Given the description of an element on the screen output the (x, y) to click on. 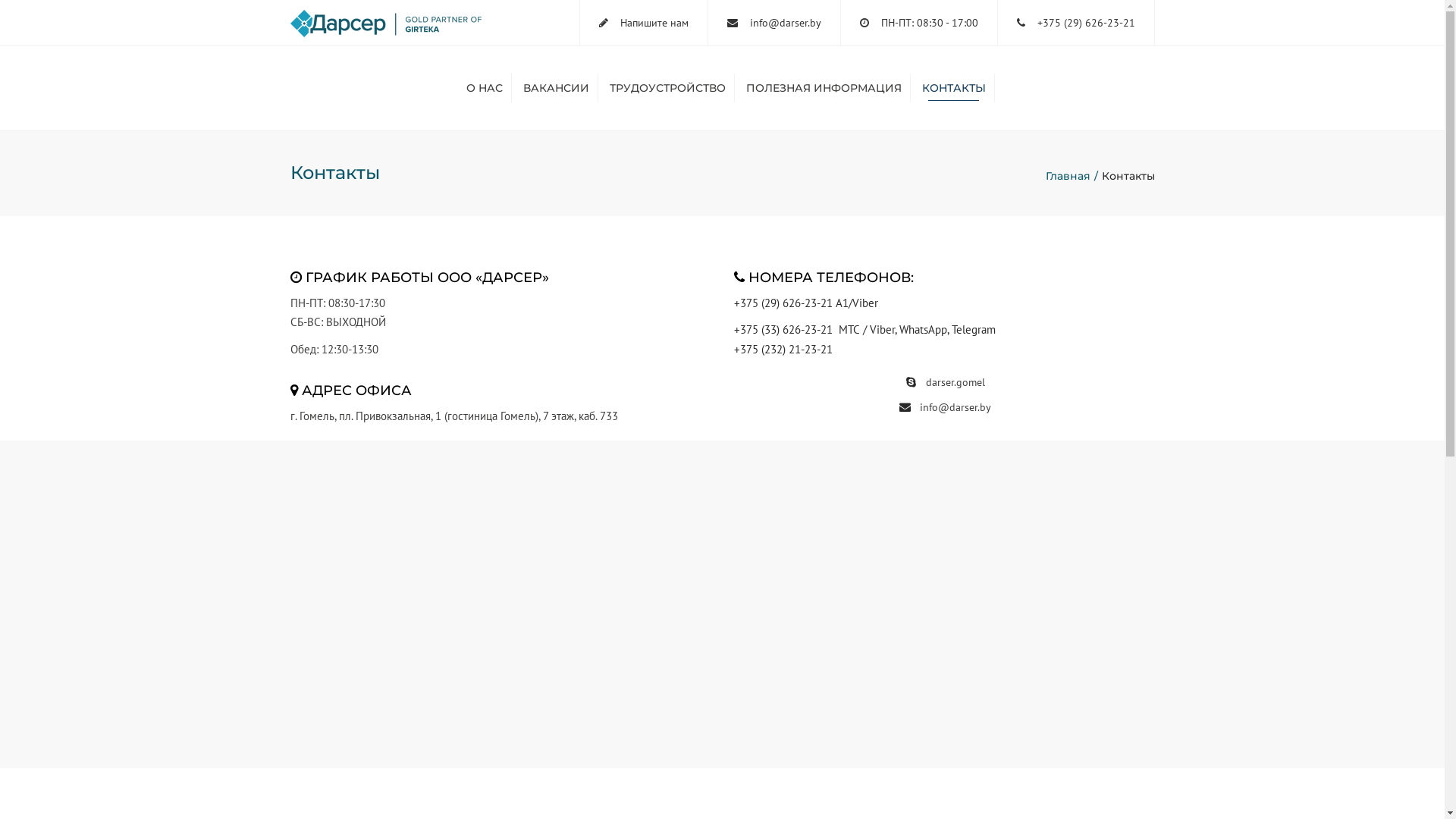
+375 (29) 626-23-21 A1/Viber Element type: text (806, 302)
info@darser.by Element type: text (784, 22)
+375 (29) 626-23-21 Element type: text (1086, 22)
+375 (232) 21-23-21 Element type: text (783, 349)
